Given the description of an element on the screen output the (x, y) to click on. 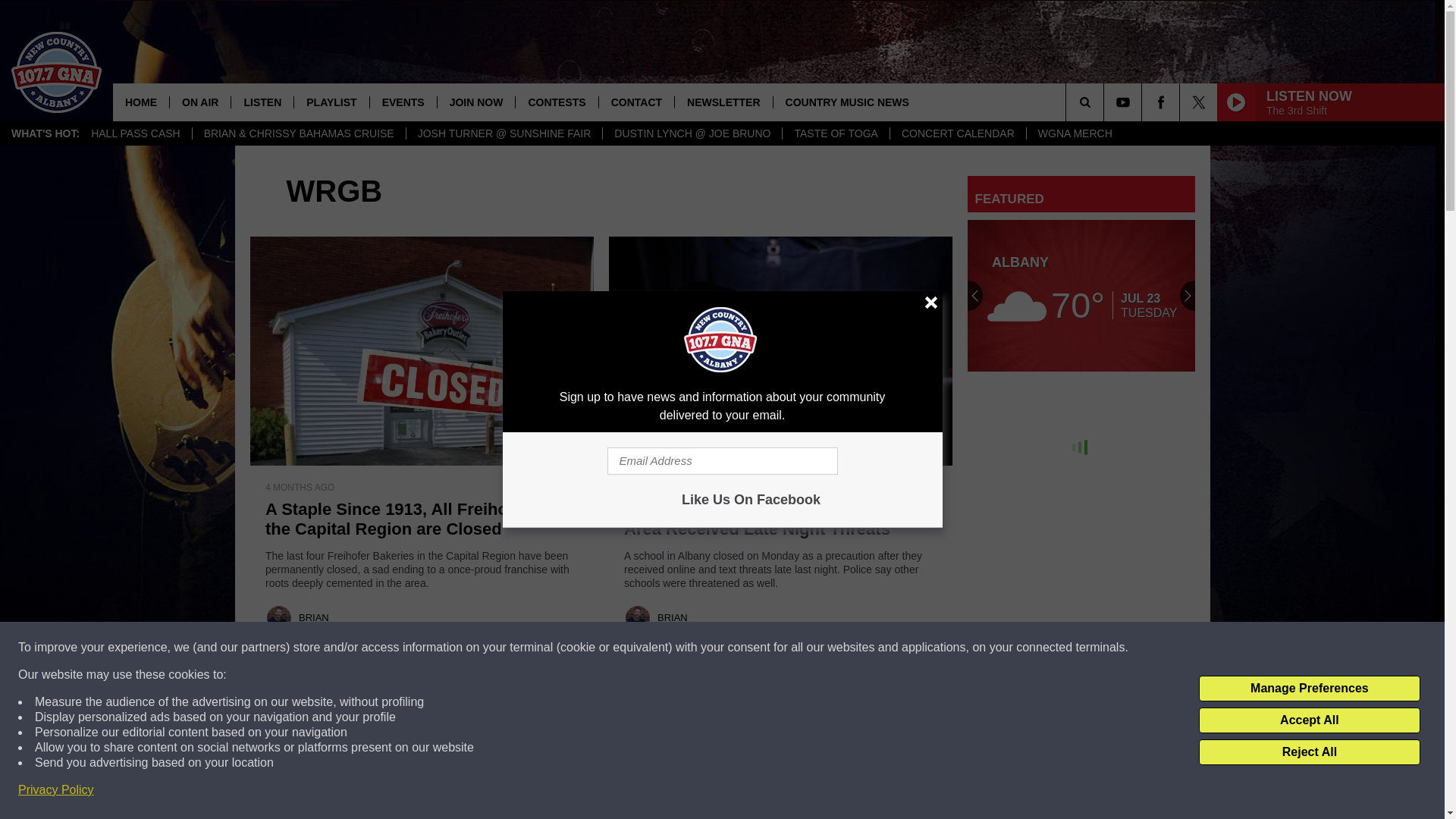
Albany Weather (1081, 295)
SEARCH (1106, 102)
CONCERT CALENDAR (957, 133)
Manage Preferences (1309, 688)
Email Address (722, 461)
TASTE OF TOGA (834, 133)
Reject All (1309, 751)
SEARCH (1106, 102)
PLAYLIST (331, 102)
EVENTS (402, 102)
HOME (140, 102)
Accept All (1309, 720)
WGNA MERCH (1075, 133)
Privacy Policy (55, 789)
ON AIR (199, 102)
